Given the description of an element on the screen output the (x, y) to click on. 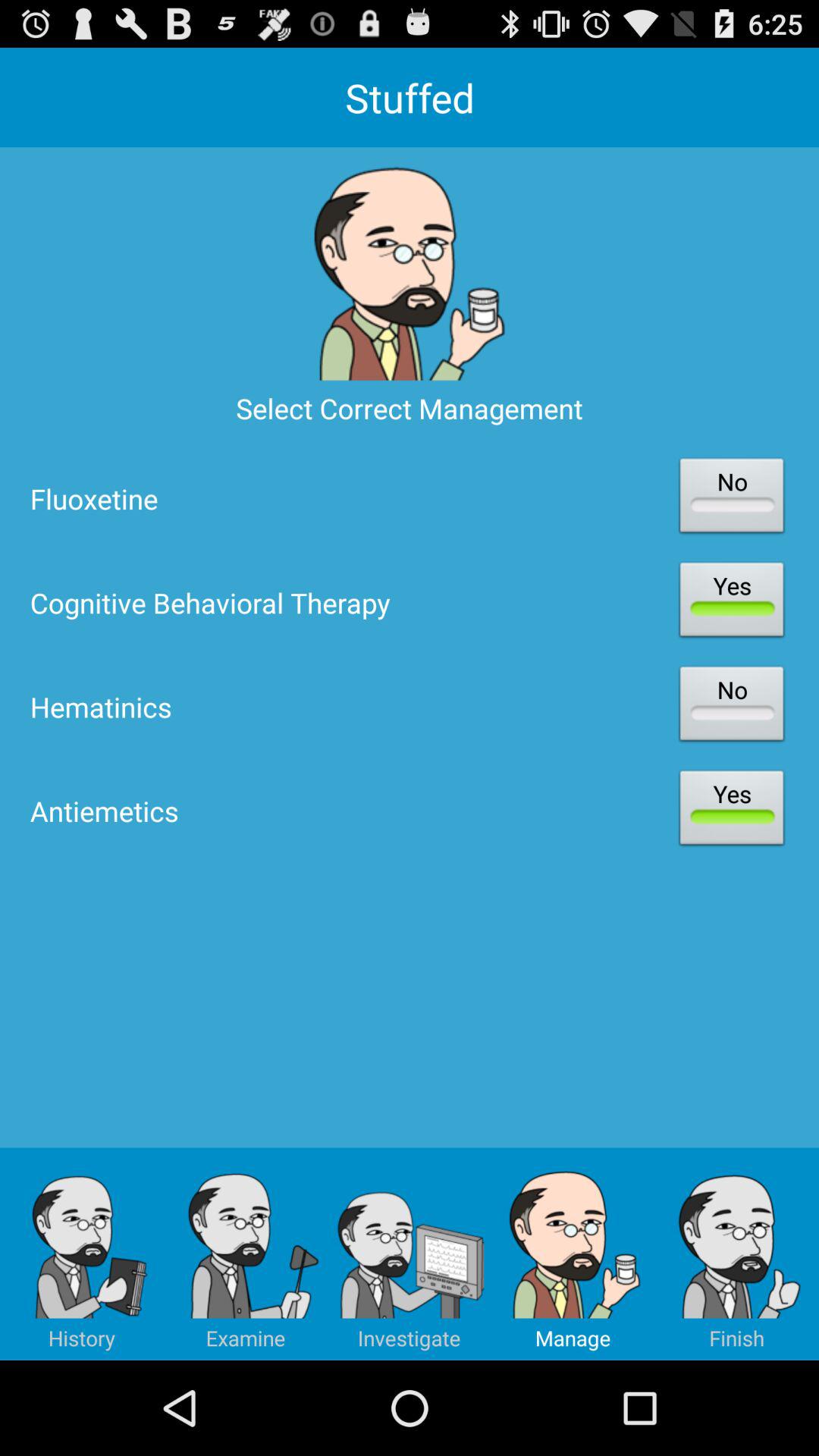
click on yes right to antiemetics (731, 811)
click on the button right to history at bottom (245, 1253)
click on the image having the text finish below it (737, 1253)
click on the image having the text manage below it (573, 1253)
click the first button on the right next to the text fluoxetine on the web page (731, 498)
click on the first yes button in the page (731, 602)
